Given the description of an element on the screen output the (x, y) to click on. 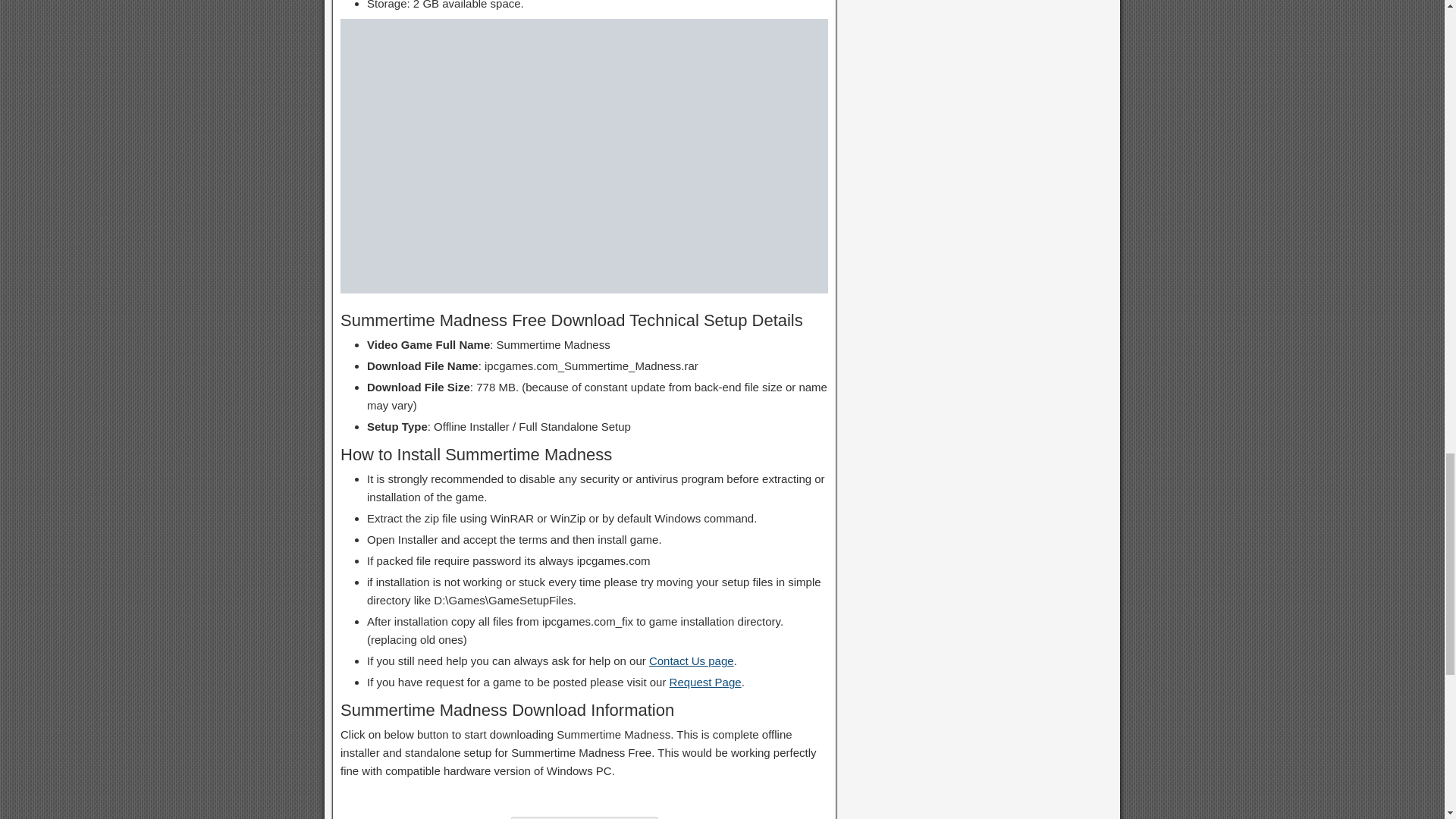
Summertime Madness Free Download (584, 155)
